Given the description of an element on the screen output the (x, y) to click on. 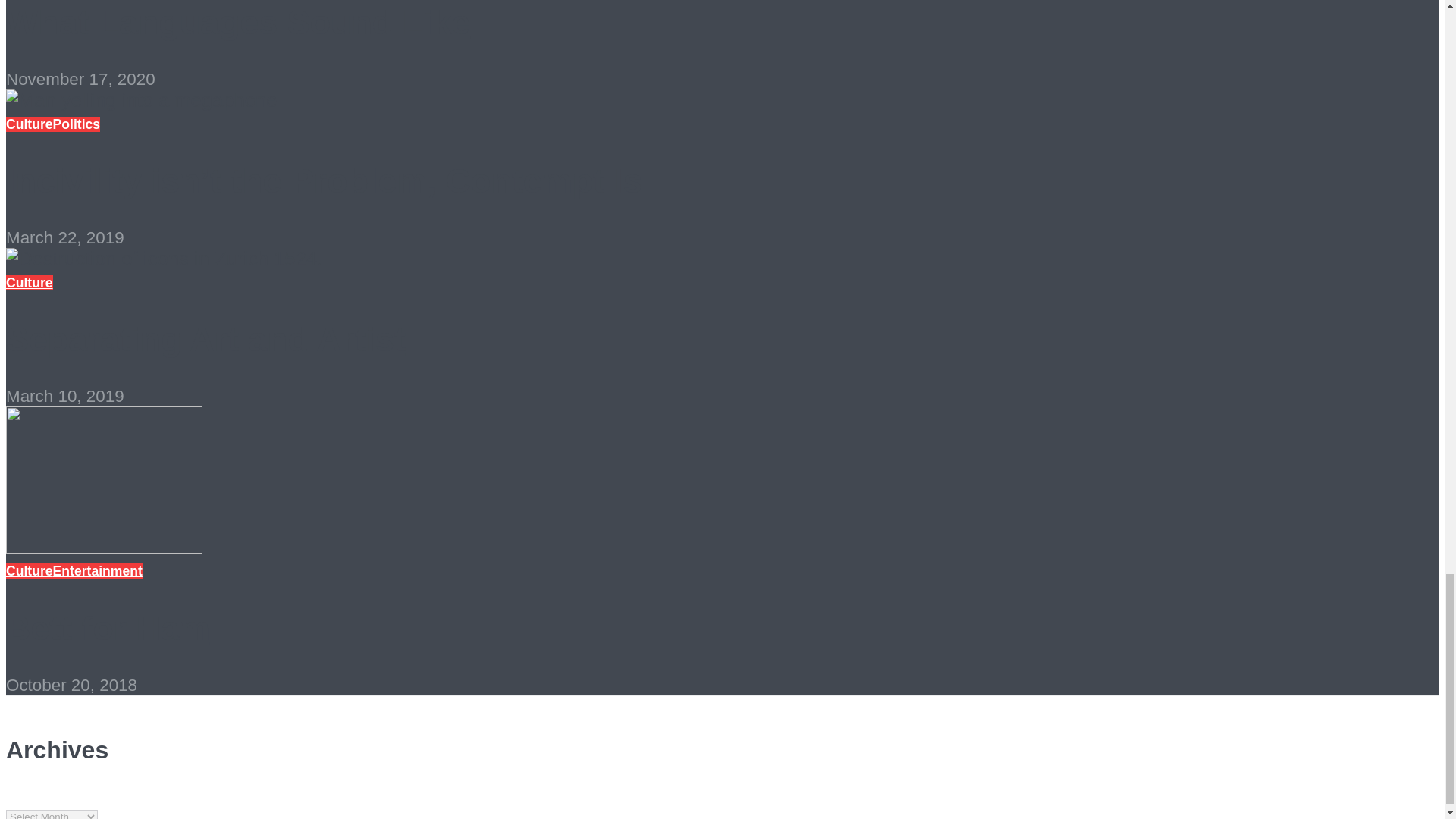
Politics (76, 124)
Culture (28, 124)
What Languages Sound Like (237, 21)
